Given the description of an element on the screen output the (x, y) to click on. 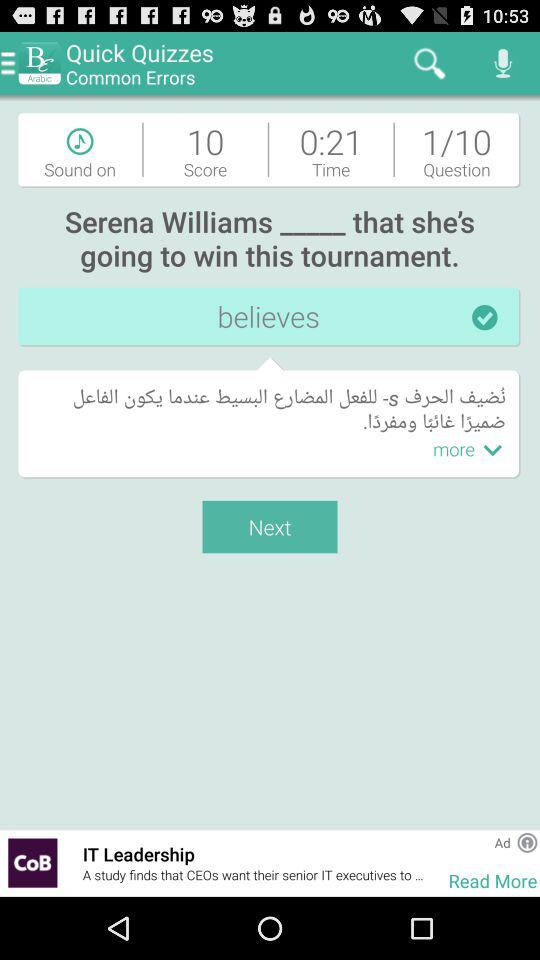
tap app above read more item (502, 842)
